Given the description of an element on the screen output the (x, y) to click on. 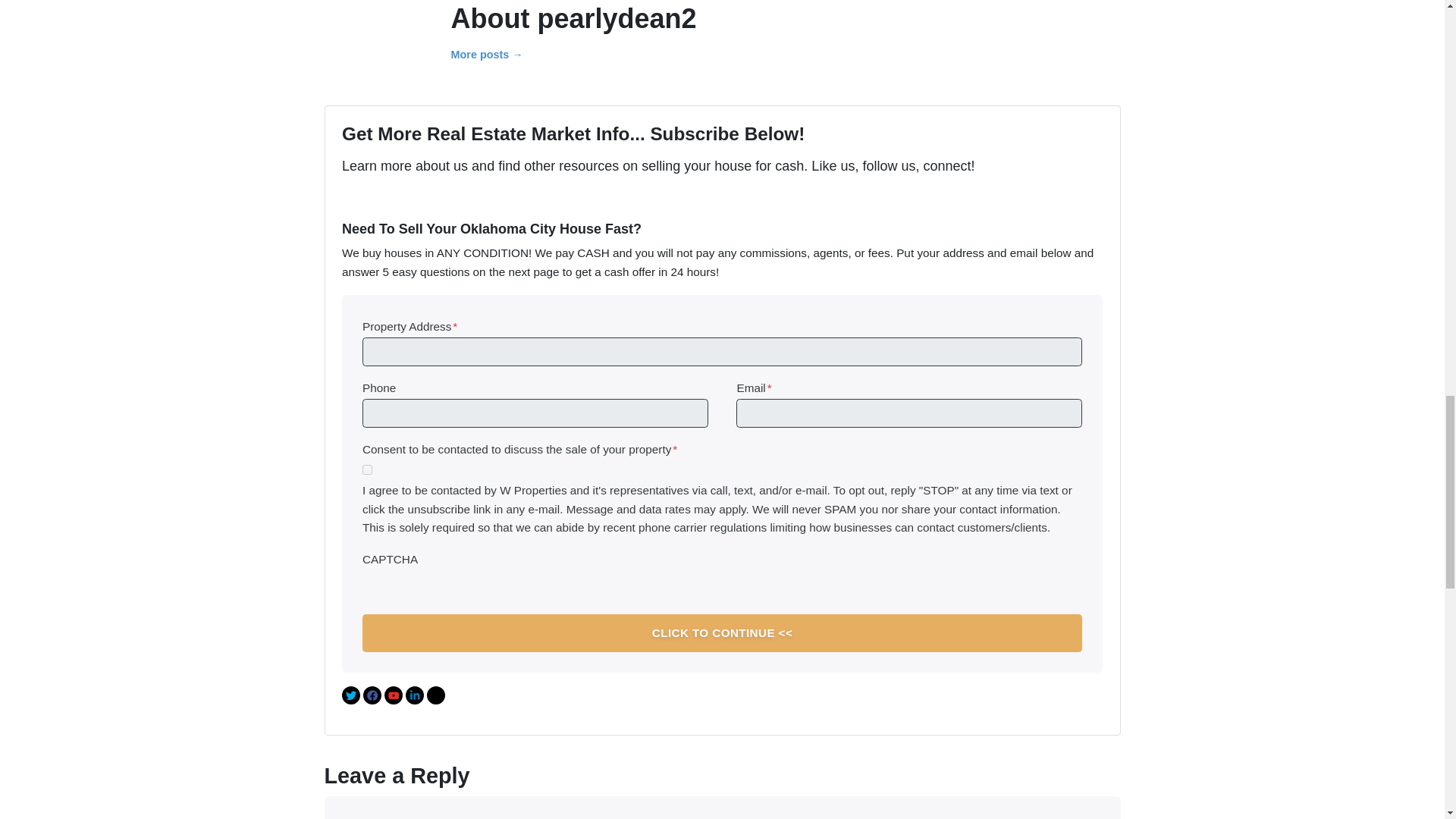
Facebook (371, 695)
LinkedIn (414, 695)
Twitter (350, 695)
YouTube (393, 695)
1 (367, 470)
